Given the description of an element on the screen output the (x, y) to click on. 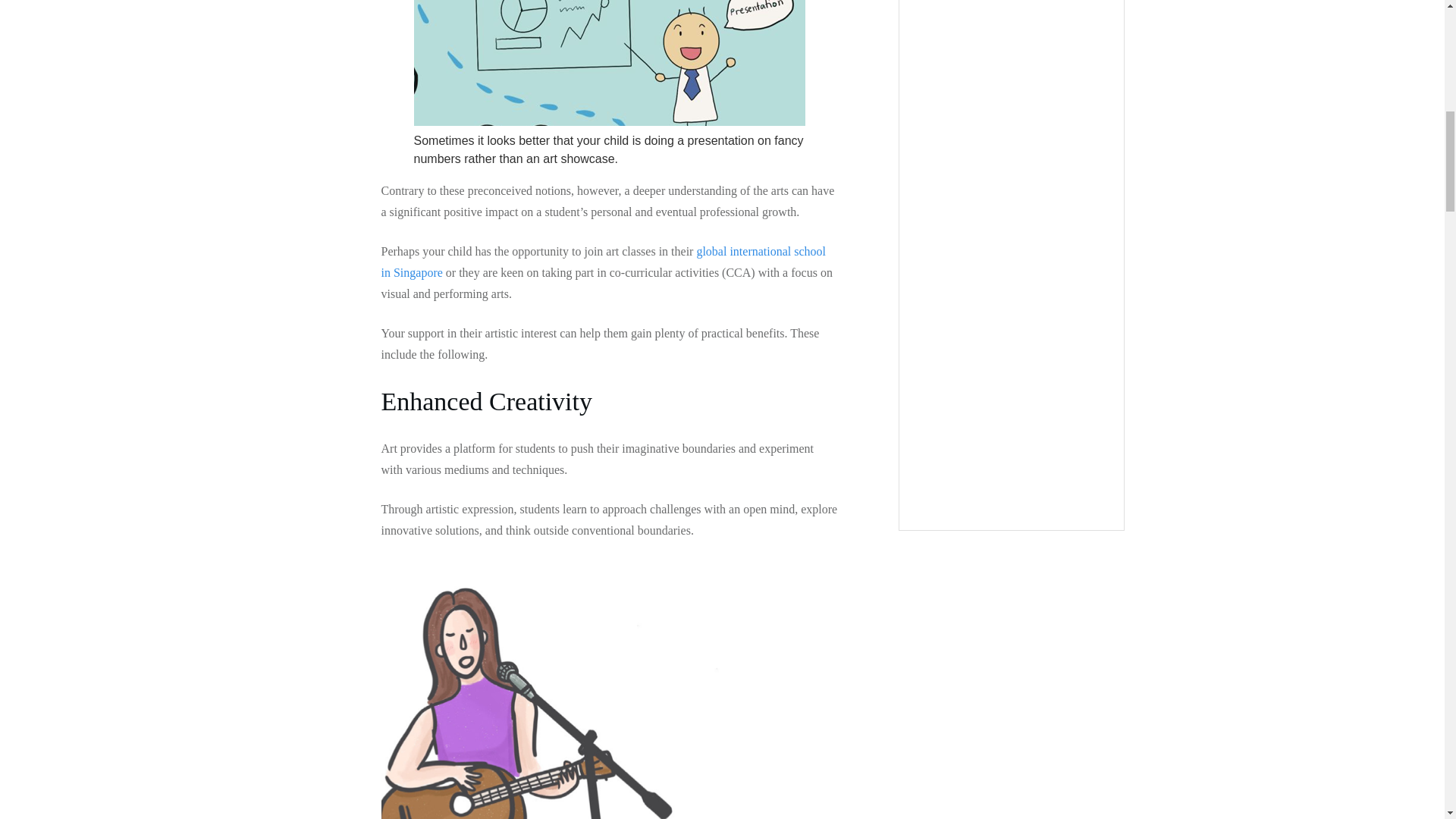
global international school in Singapore (602, 261)
